Given the description of an element on the screen output the (x, y) to click on. 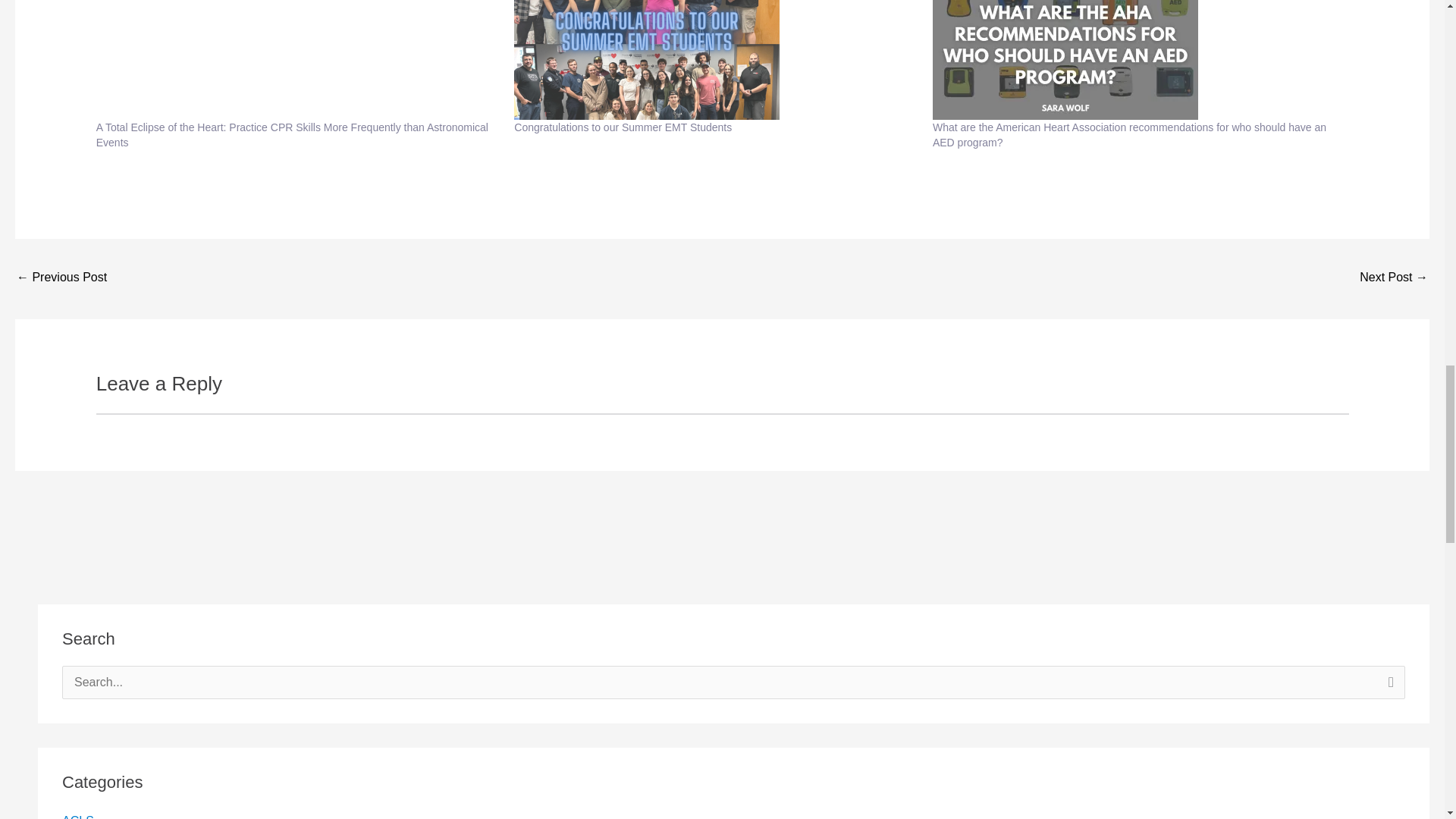
American Heart Association eCards (61, 278)
Congratulations to our Summer EMT Students (622, 127)
Congratulations to our Summer EMT Students (715, 59)
